Given the description of an element on the screen output the (x, y) to click on. 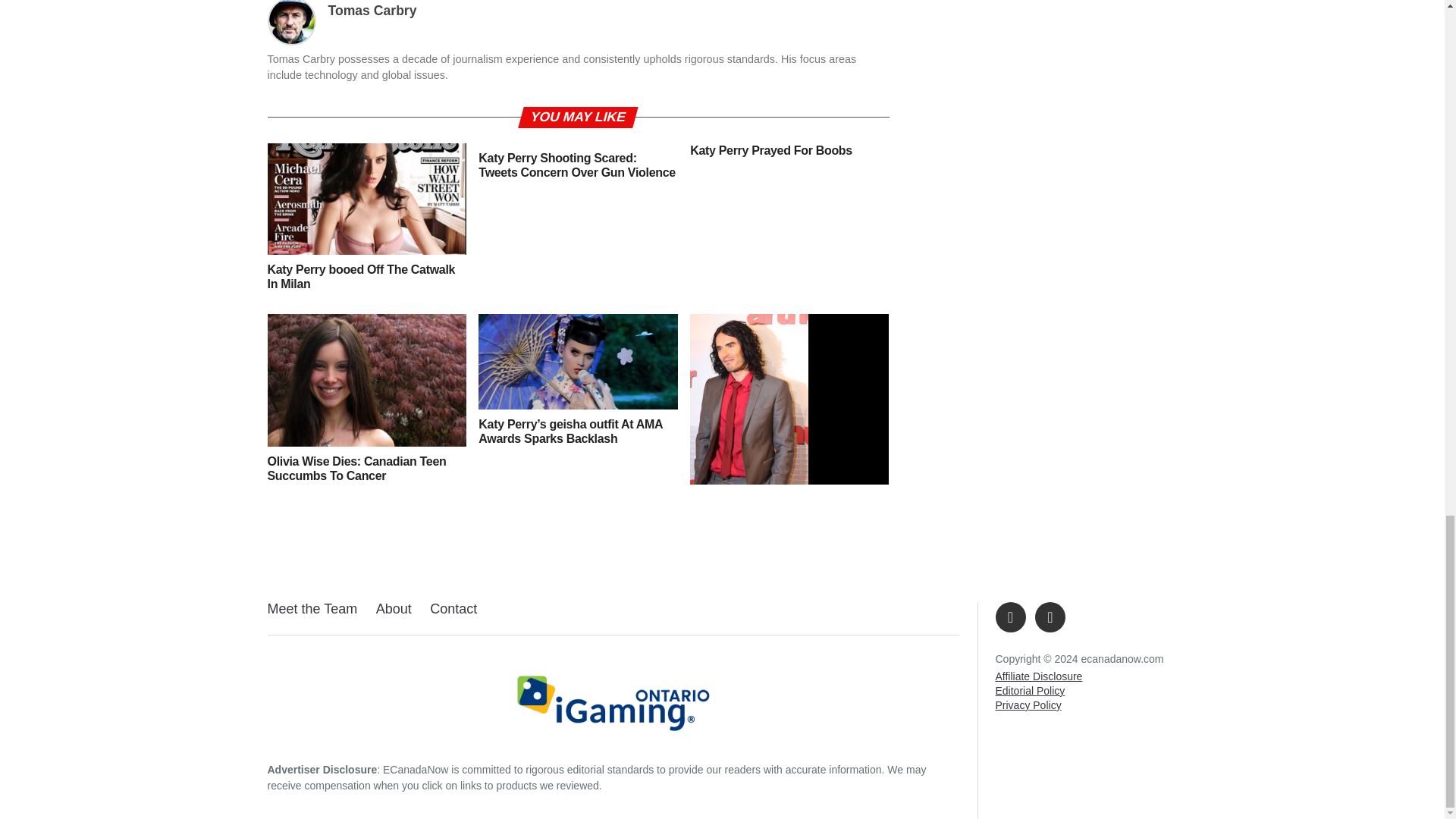
Posts by Tomas Carbry (371, 10)
